Given the description of an element on the screen output the (x, y) to click on. 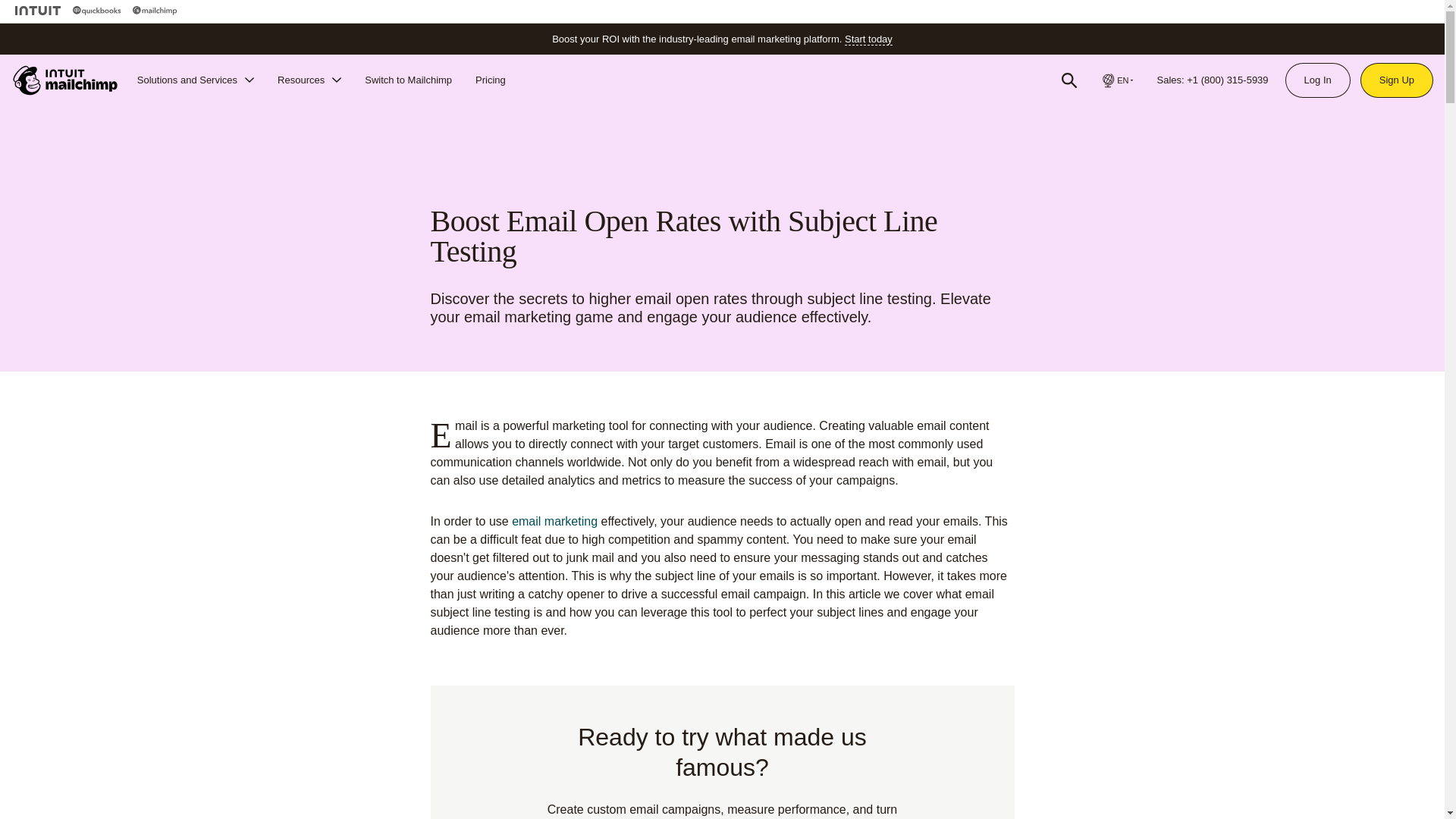
Resources (308, 79)
Solutions and Services (195, 79)
Log In (1317, 80)
Sign Up (1396, 80)
Start today (868, 39)
Search (1069, 80)
email marketing (554, 521)
Pricing (490, 79)
Switch to Mailchimp (408, 79)
